Given the description of an element on the screen output the (x, y) to click on. 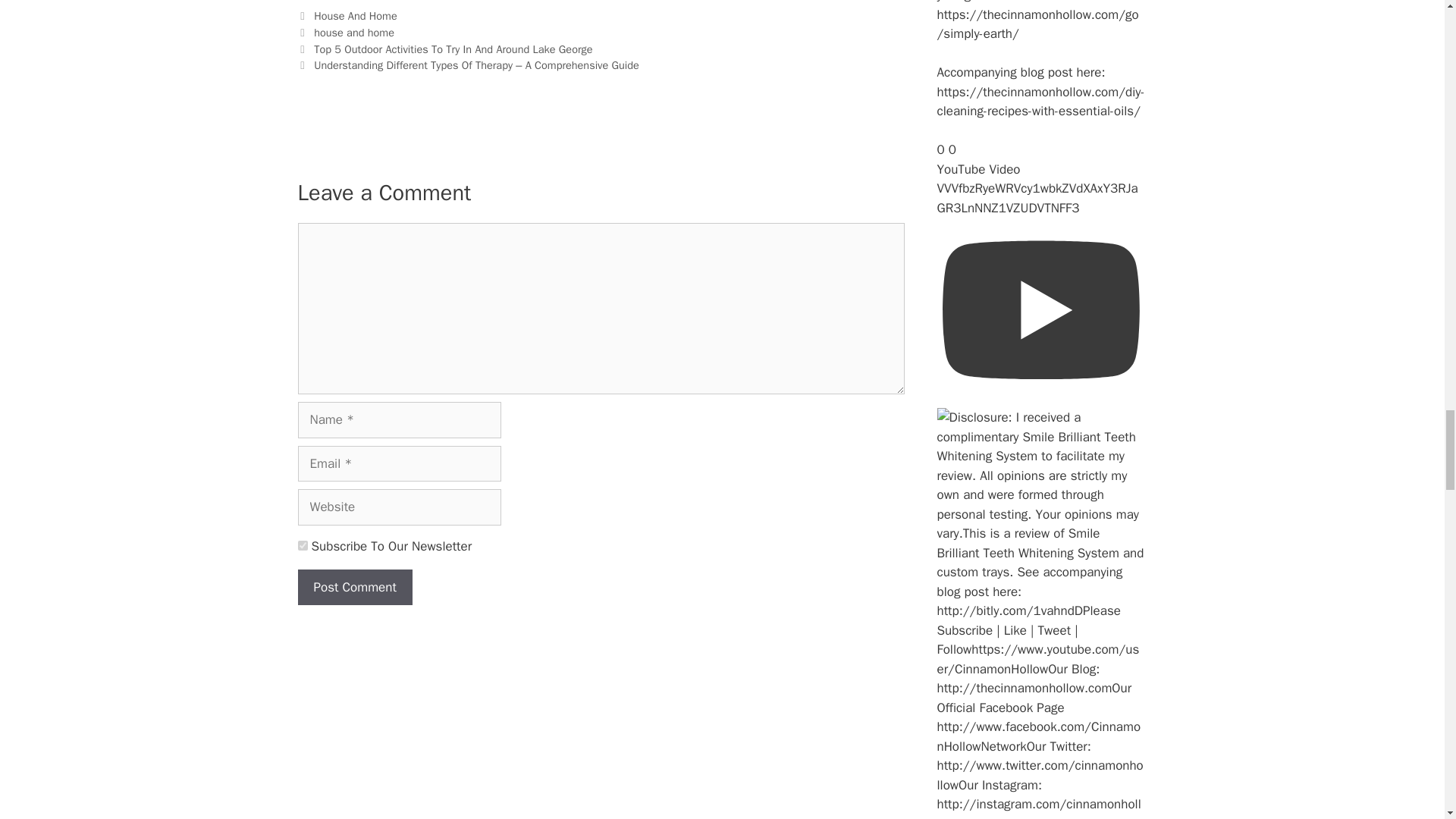
Post Comment (354, 587)
1 (302, 545)
